Given the description of an element on the screen output the (x, y) to click on. 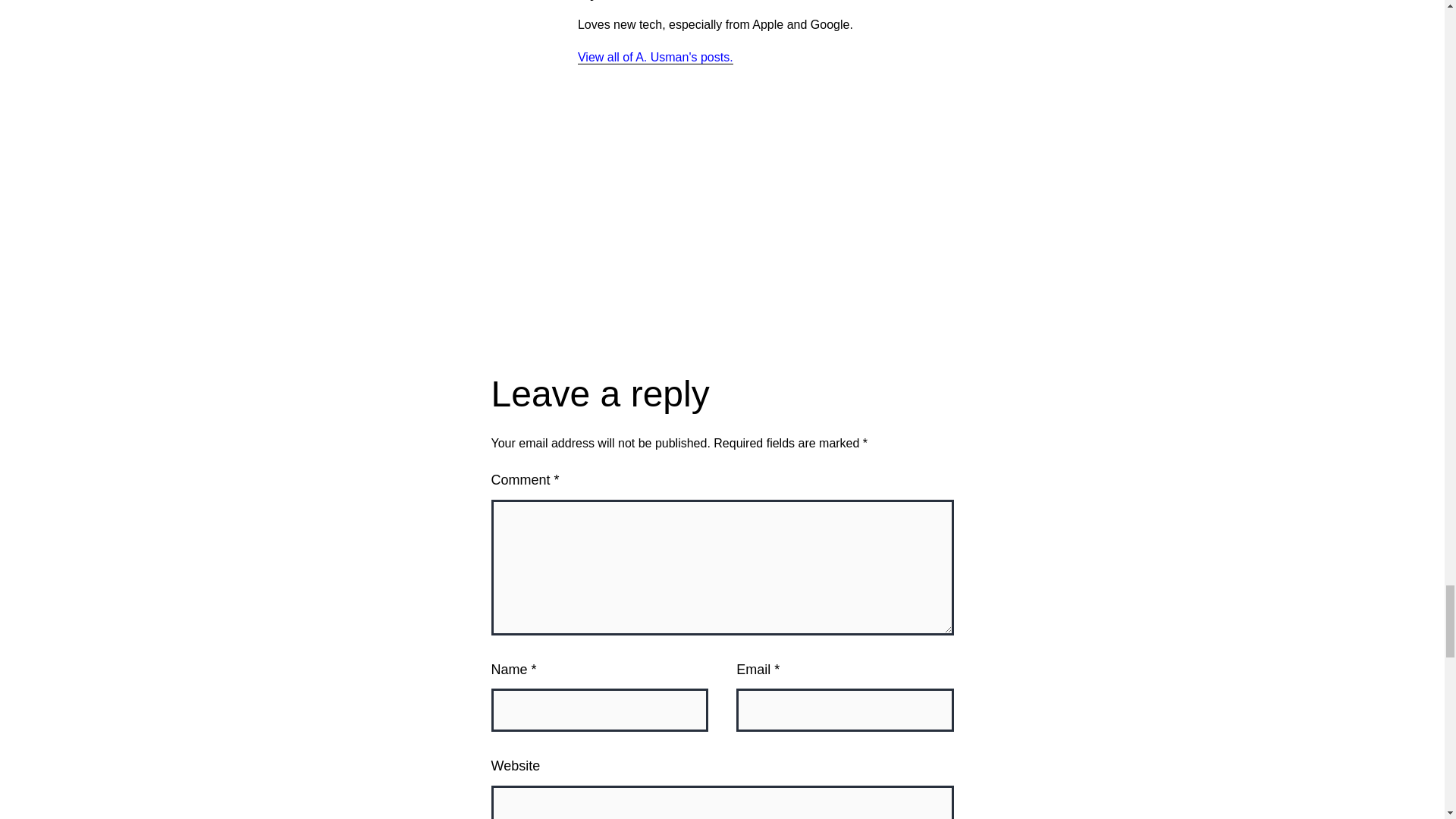
View all of A. Usman's posts. (655, 57)
